Given the description of an element on the screen output the (x, y) to click on. 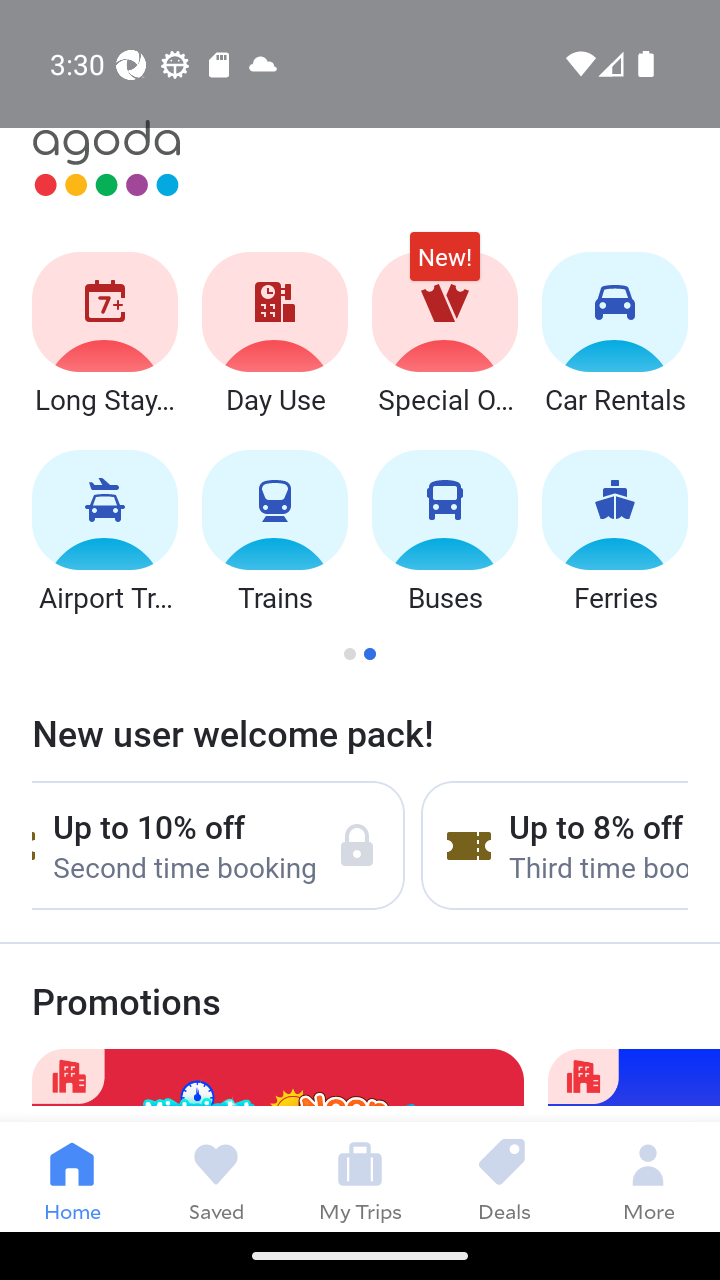
New! (444, 265)
Home (72, 1176)
Saved (216, 1176)
My Trips (360, 1176)
Deals (504, 1176)
More (648, 1176)
